Given the description of an element on the screen output the (x, y) to click on. 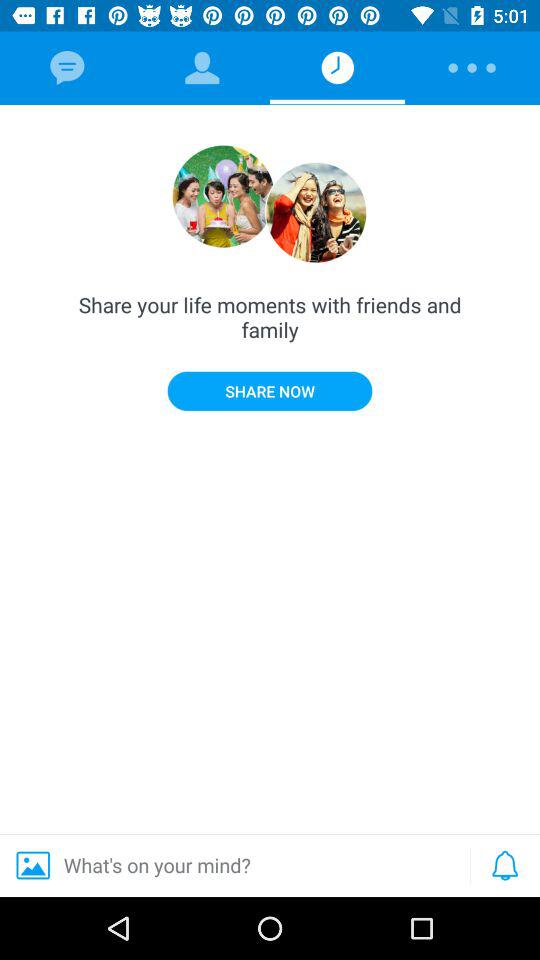
launch the icon at the center (269, 390)
